Given the description of an element on the screen output the (x, y) to click on. 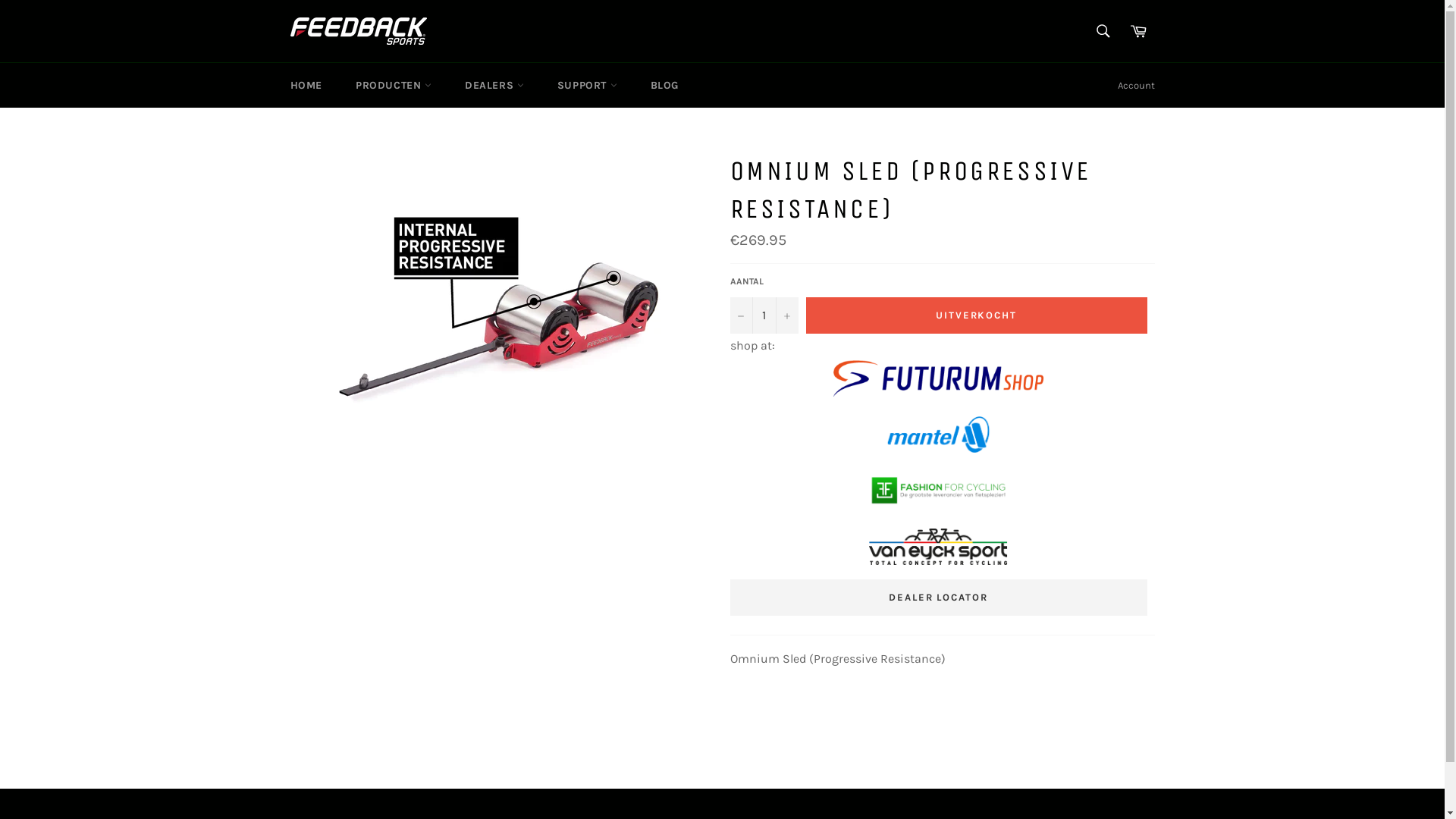
BLOG Element type: text (664, 84)
UITVERKOCHT Element type: text (975, 315)
Winkelmandje Element type: text (1138, 31)
DEALER LOCATOR Element type: text (937, 597)
DEALERS Element type: text (494, 84)
+ Element type: text (786, 315)
Account Element type: text (1136, 85)
DEALER LOCATOR Element type: text (938, 594)
SUPPORT Element type: text (587, 84)
HOME Element type: text (305, 84)
PRODUCTEN Element type: text (393, 84)
Zoek Element type: text (1103, 31)
